Given the description of an element on the screen output the (x, y) to click on. 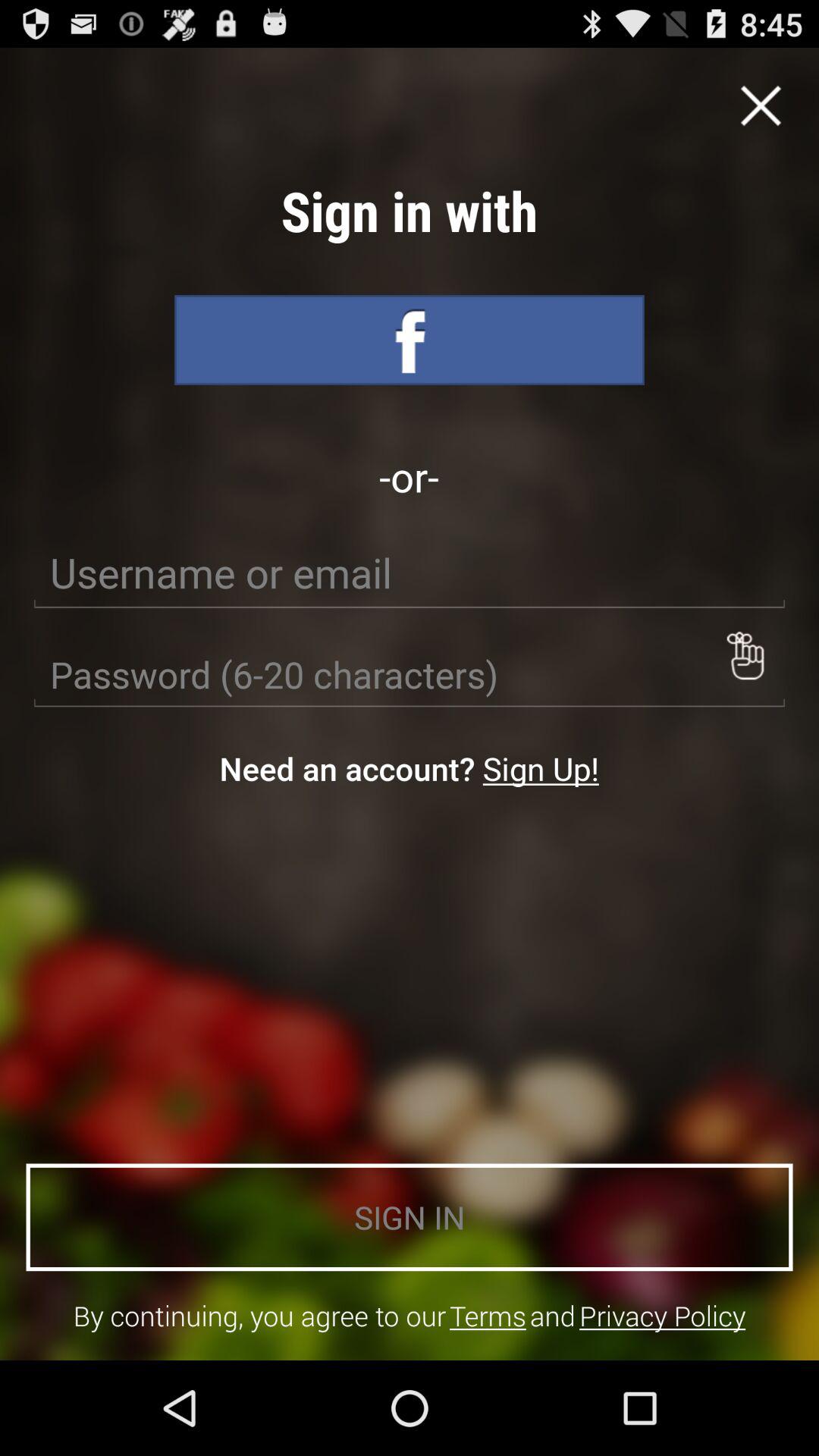
turn on icon on the right (744, 655)
